Given the description of an element on the screen output the (x, y) to click on. 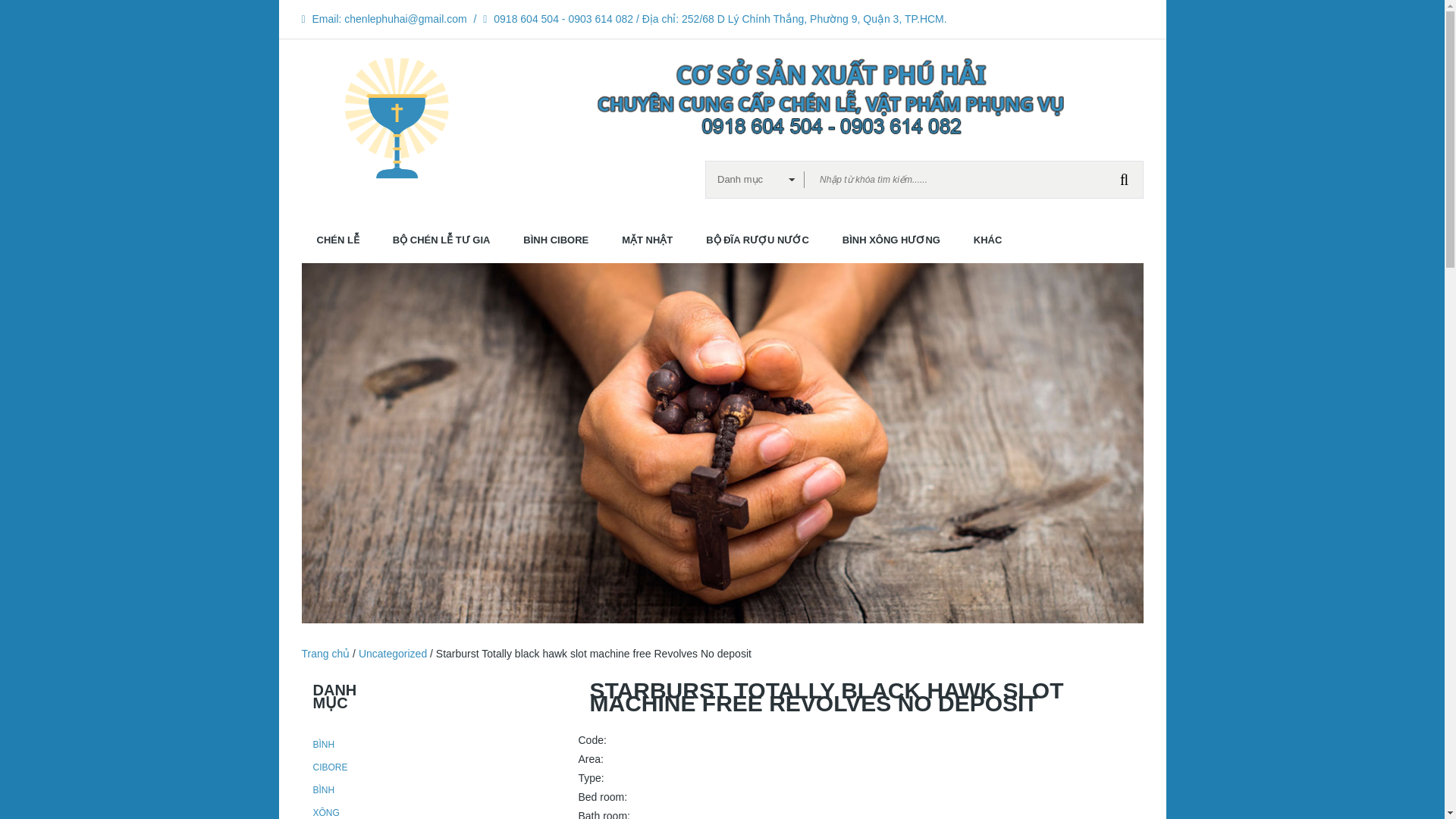
Uncategorized (392, 653)
Go to the Uncategorized category archives. (392, 653)
Go to Chen Le Phu Hai. (325, 653)
